Given the description of an element on the screen output the (x, y) to click on. 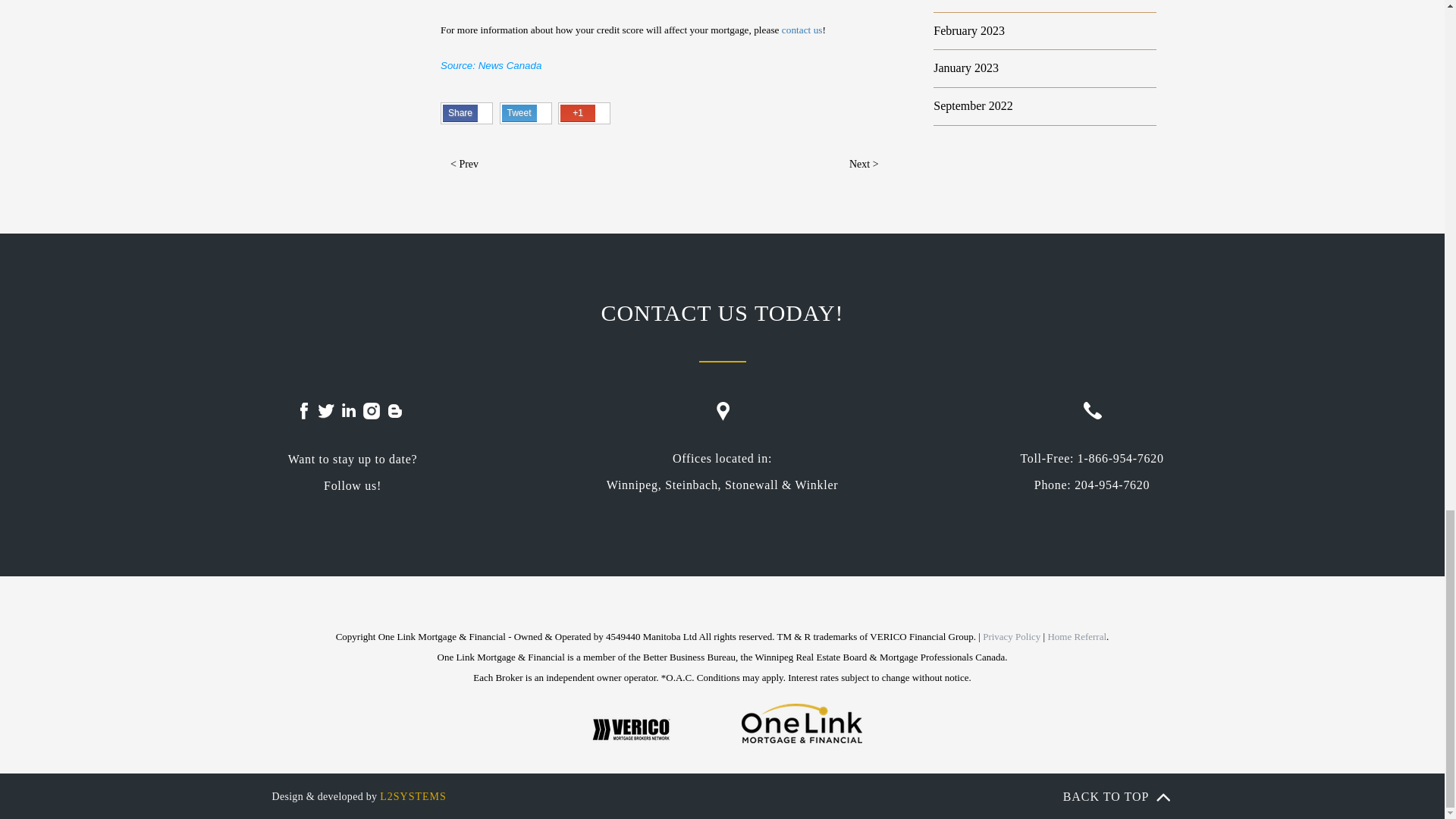
Tweet (525, 112)
contact us (801, 30)
Share (467, 112)
BACK TO TOP (1138, 790)
